Given the description of an element on the screen output the (x, y) to click on. 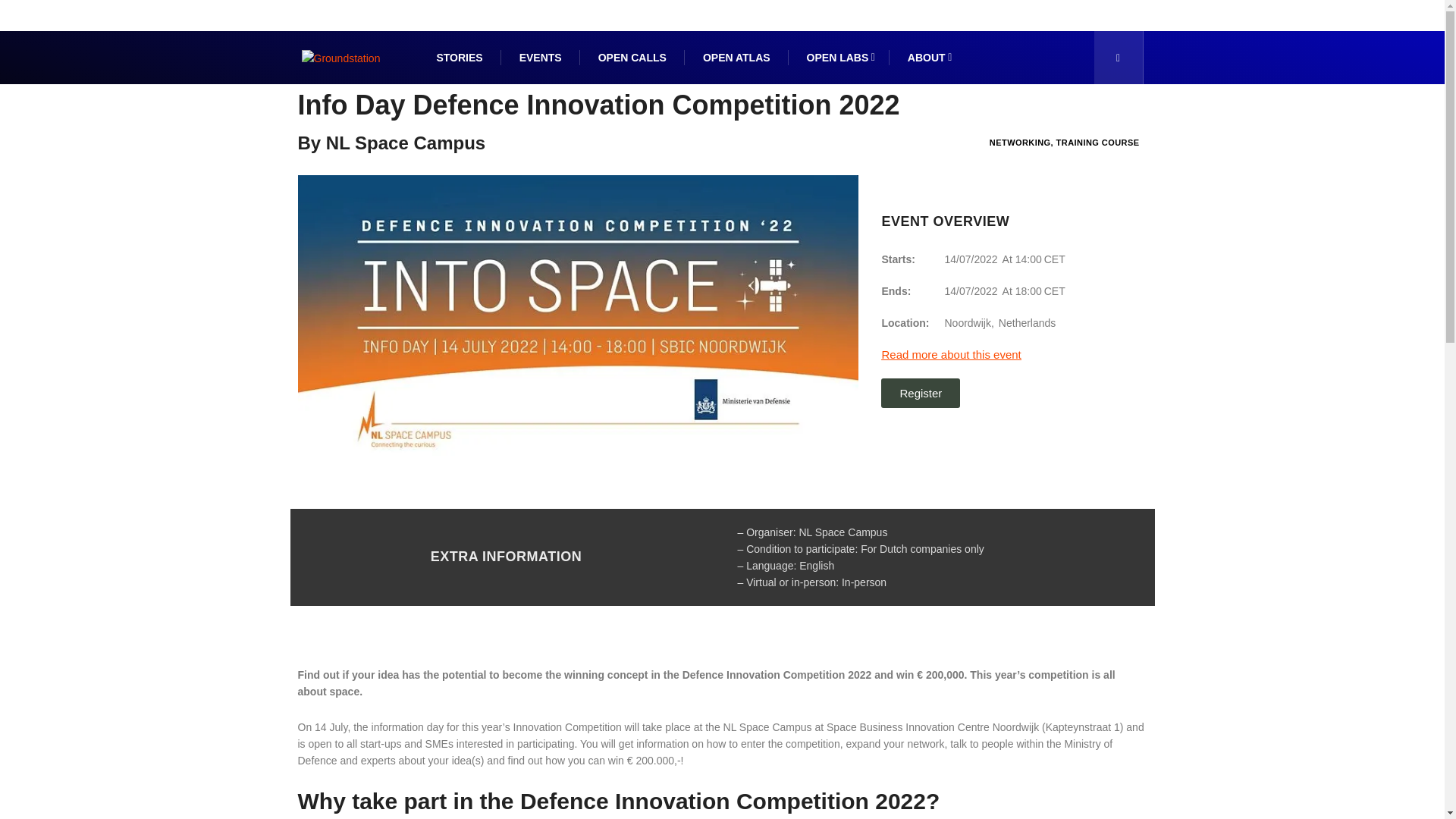
OPEN CALLS (632, 57)
Register (919, 392)
Read more about this event (950, 354)
OPEN LABS (838, 57)
OPEN ATLAS (736, 57)
popup modal for search (1117, 57)
